Given the description of an element on the screen output the (x, y) to click on. 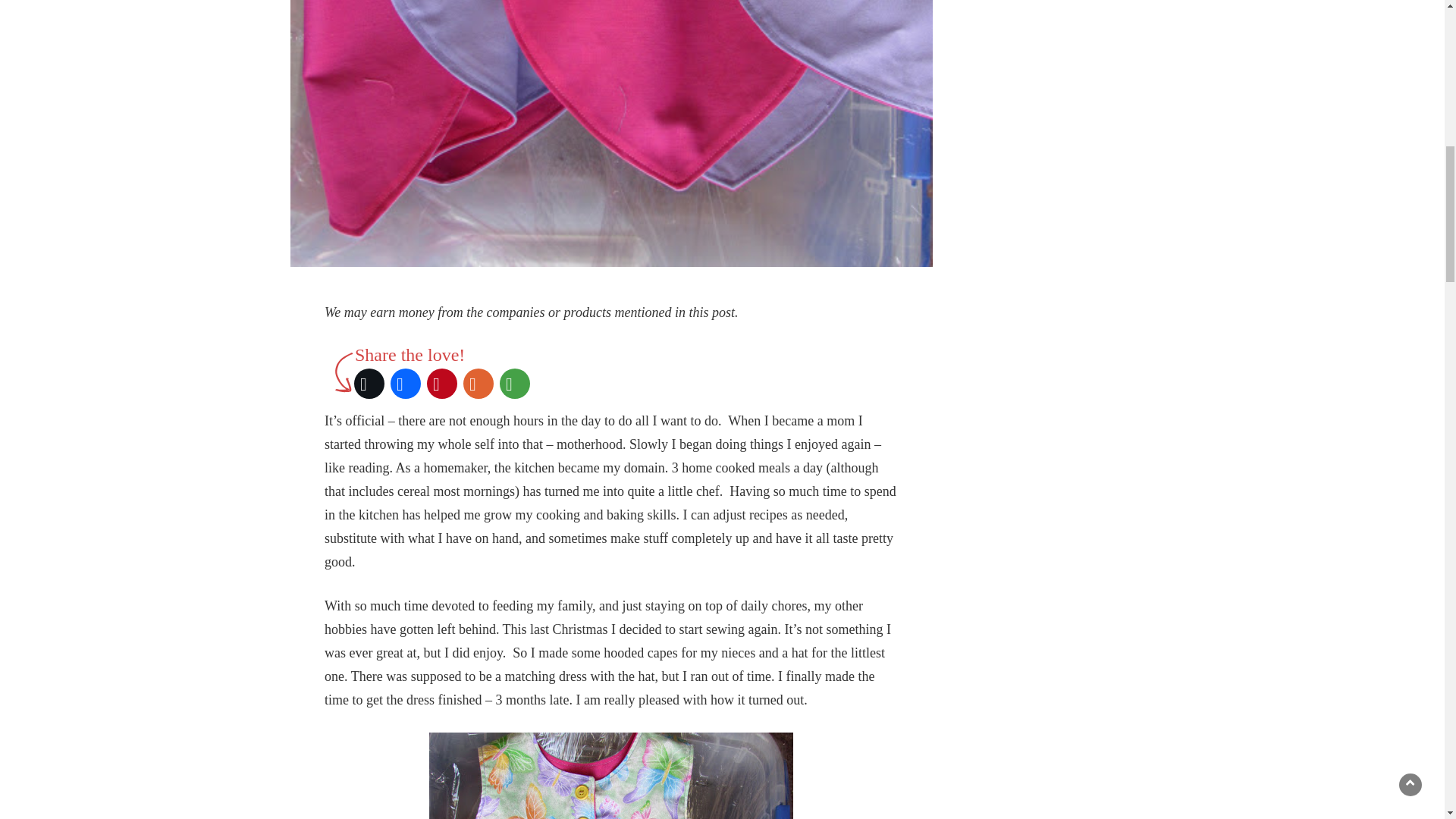
Yummly (478, 383)
More Options (514, 383)
Facebook (405, 383)
Pinterest (441, 383)
